Given the description of an element on the screen output the (x, y) to click on. 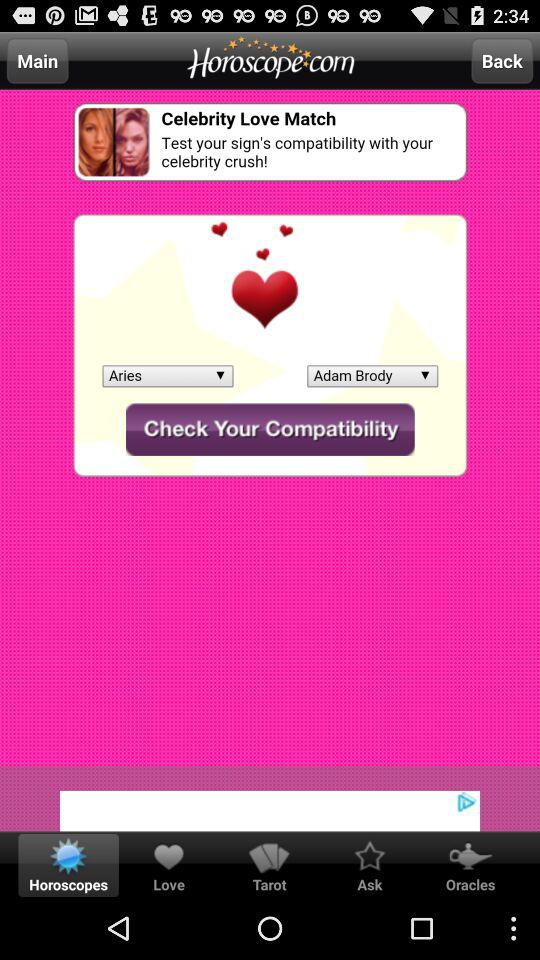
click button (270, 798)
